Given the description of an element on the screen output the (x, y) to click on. 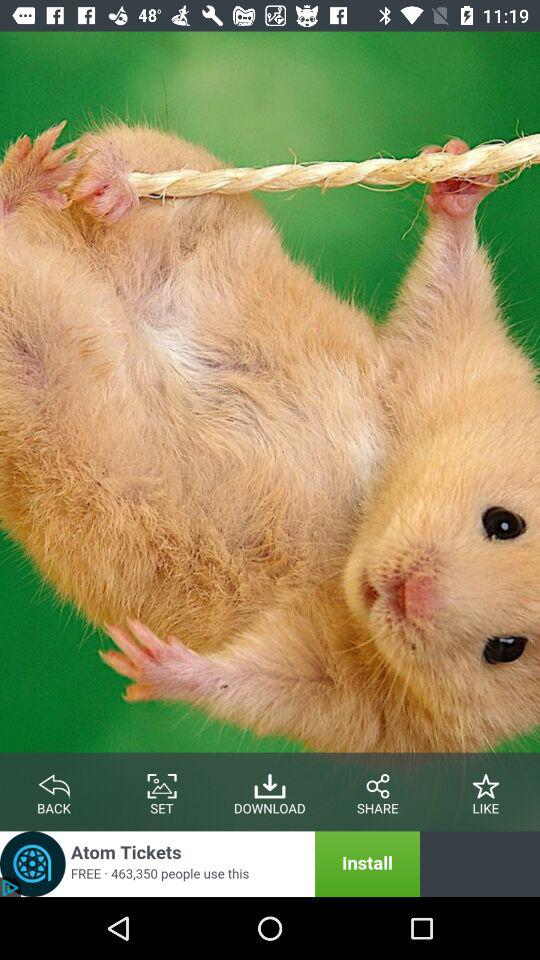
share the article (377, 782)
